Given the description of an element on the screen output the (x, y) to click on. 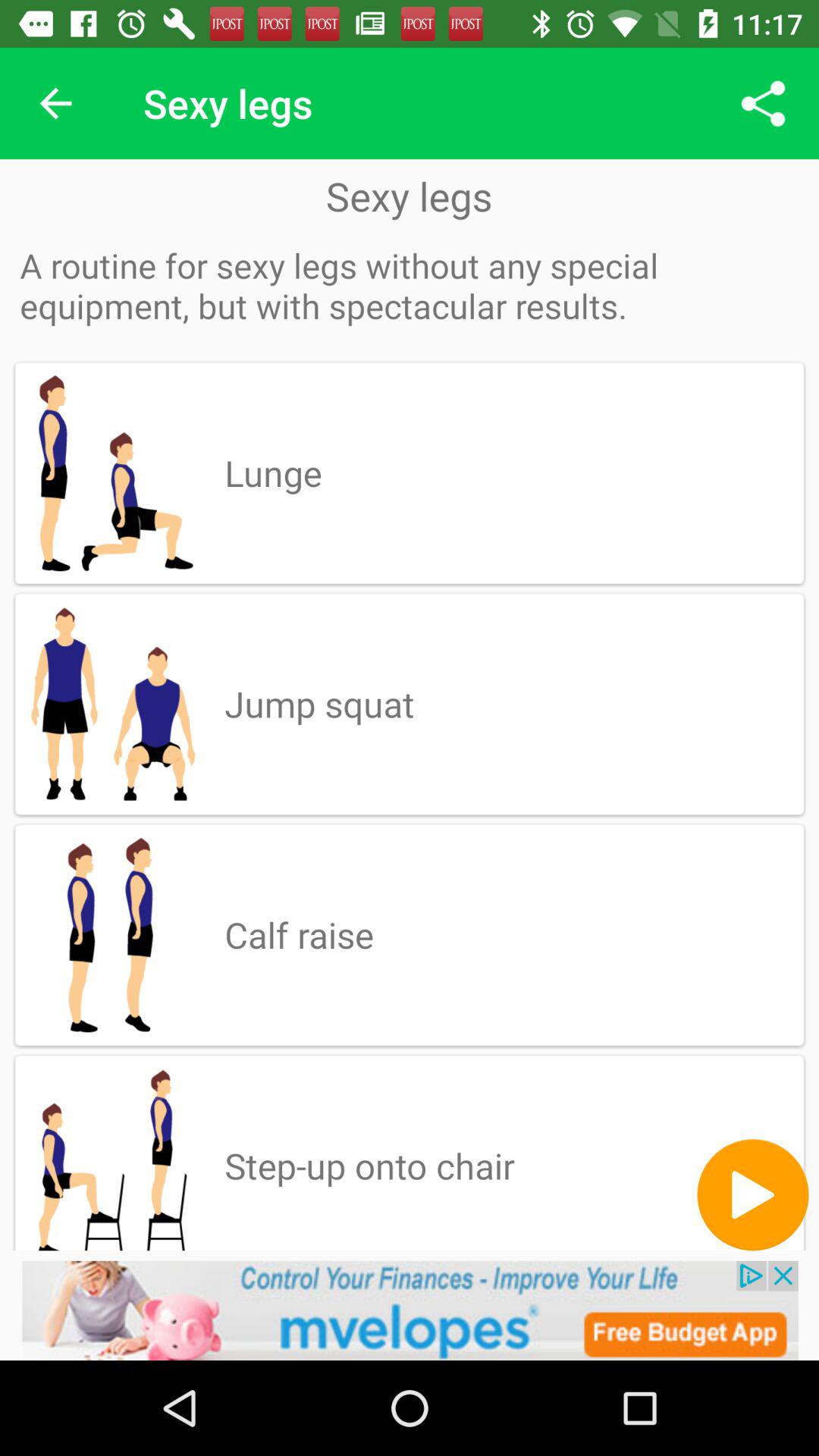
music pega (752, 1194)
